Given the description of an element on the screen output the (x, y) to click on. 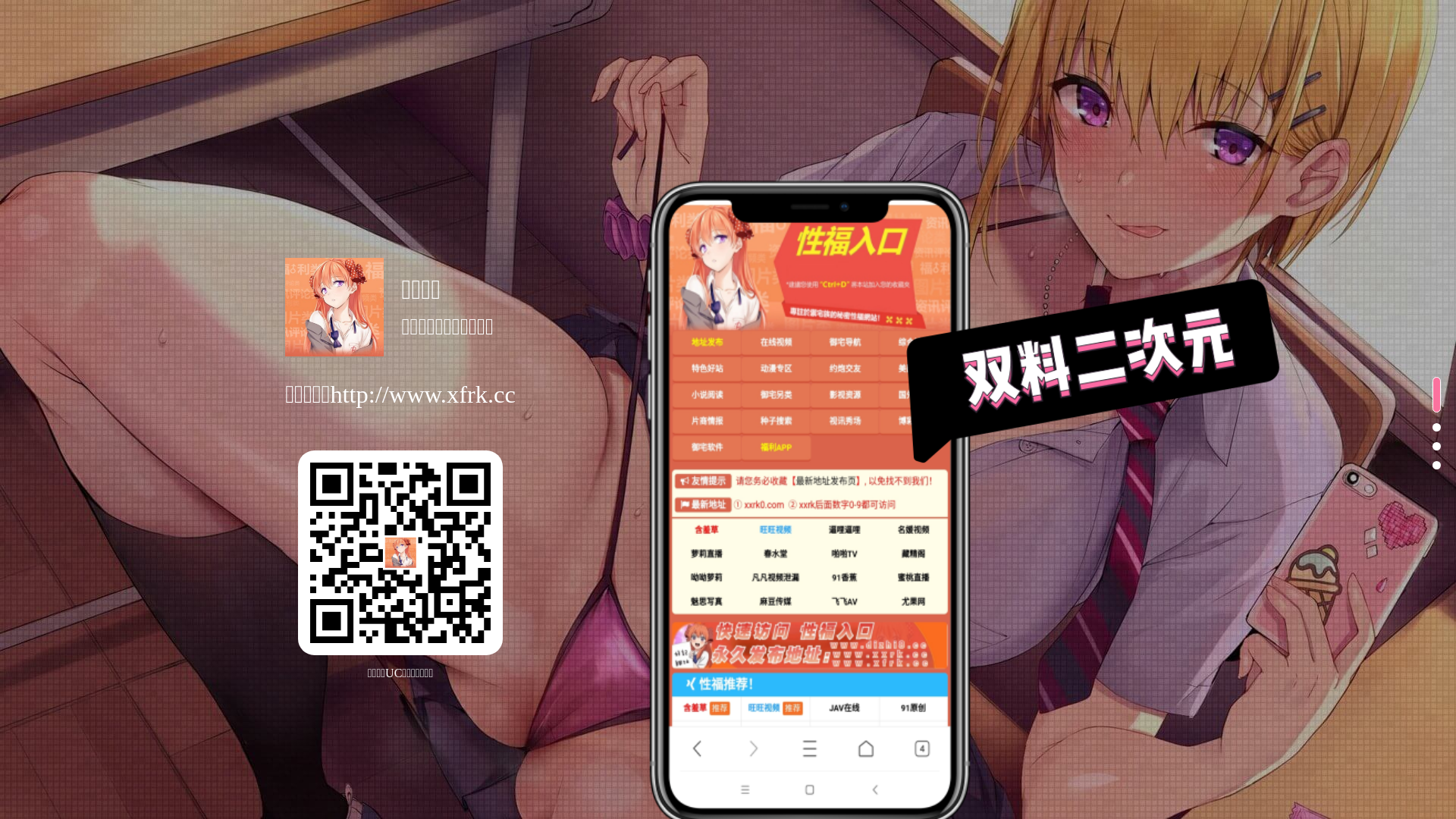
http://app.xfrk.cc Element type: hover (400, 552)
Section 1 Element type: text (1432, 394)
Section 3 Element type: text (1432, 446)
Section 4 Element type: text (1432, 465)
Section 2 Element type: text (1432, 427)
